Given the description of an element on the screen output the (x, y) to click on. 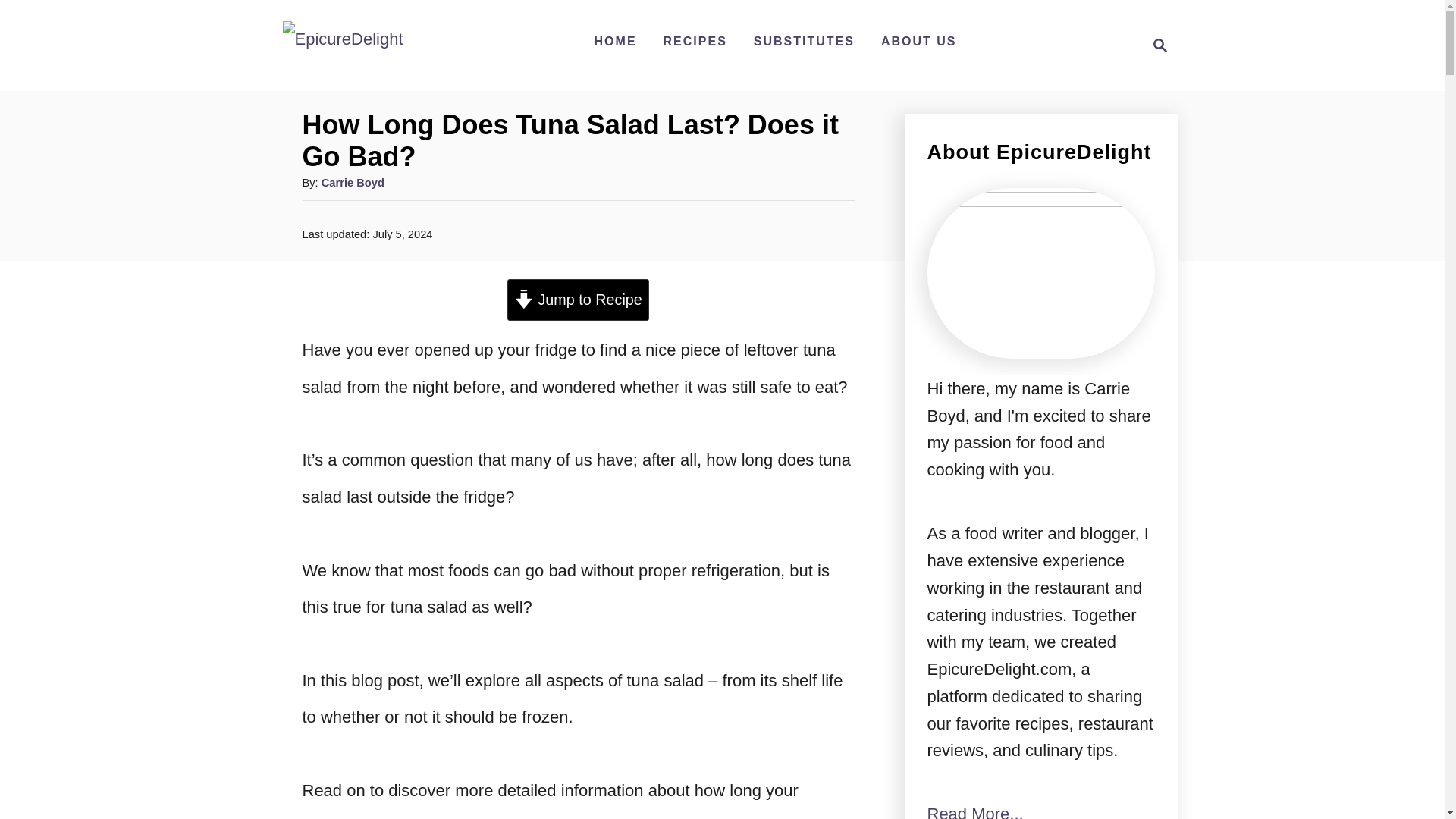
Jump to Recipe (577, 300)
SUBSTITUTES (803, 41)
ABOUT US (918, 41)
Carrie Boyd (352, 182)
Magnifying Glass (1160, 45)
HOME (1155, 45)
RECIPES (615, 41)
EpicureDelight (695, 41)
